Given the description of an element on the screen output the (x, y) to click on. 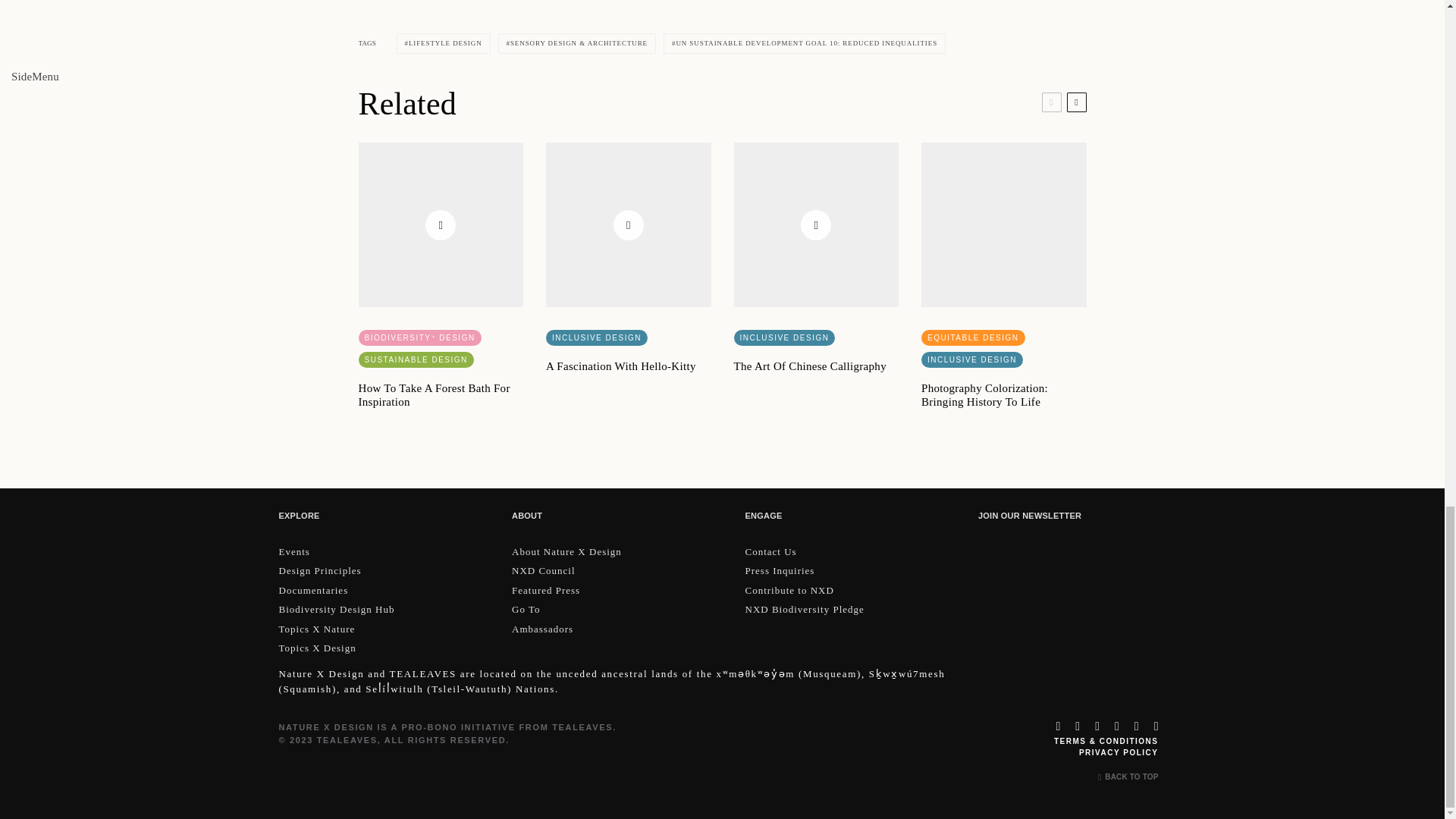
SUSTAINABLE DESIGN (415, 359)
UN SUSTAINABLE DEVELOPMENT GOAL 10: REDUCED INEQUALITIES (803, 43)
LIFESTYLE DESIGN (442, 43)
